Given the description of an element on the screen output the (x, y) to click on. 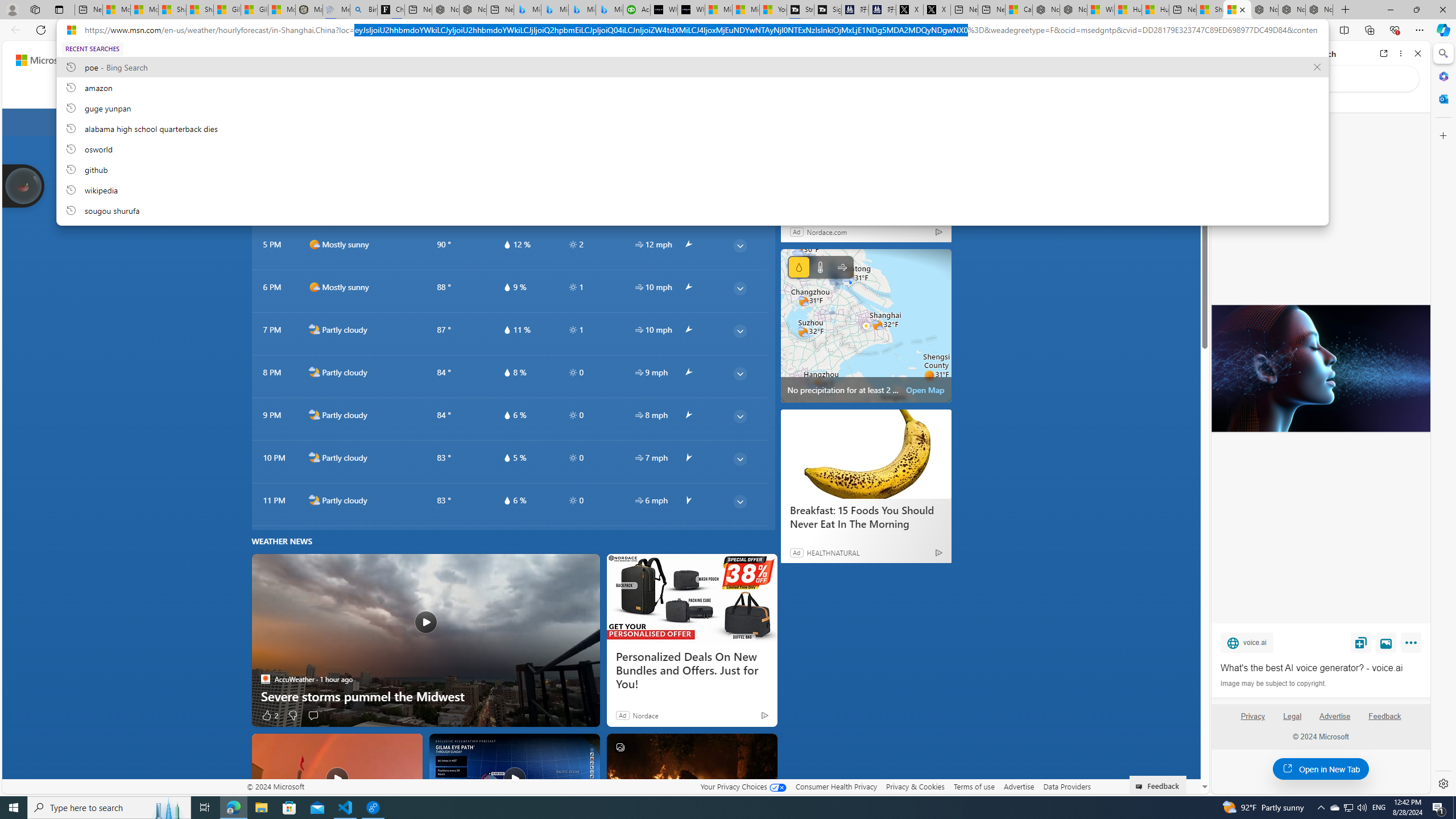
Pollen (640, 92)
sougou shurufa, recent searches from history (691, 209)
HEALTHNATURAL (832, 552)
Severe storms pummel the Midwest (425, 640)
This site scope (1259, 102)
guge yunpan, recent searches from history (691, 107)
Manatee Mortality Statistics | FWC (309, 9)
Start the conversation (312, 715)
Fire information (698, 92)
Severe Weather (529, 92)
